Given the description of an element on the screen output the (x, y) to click on. 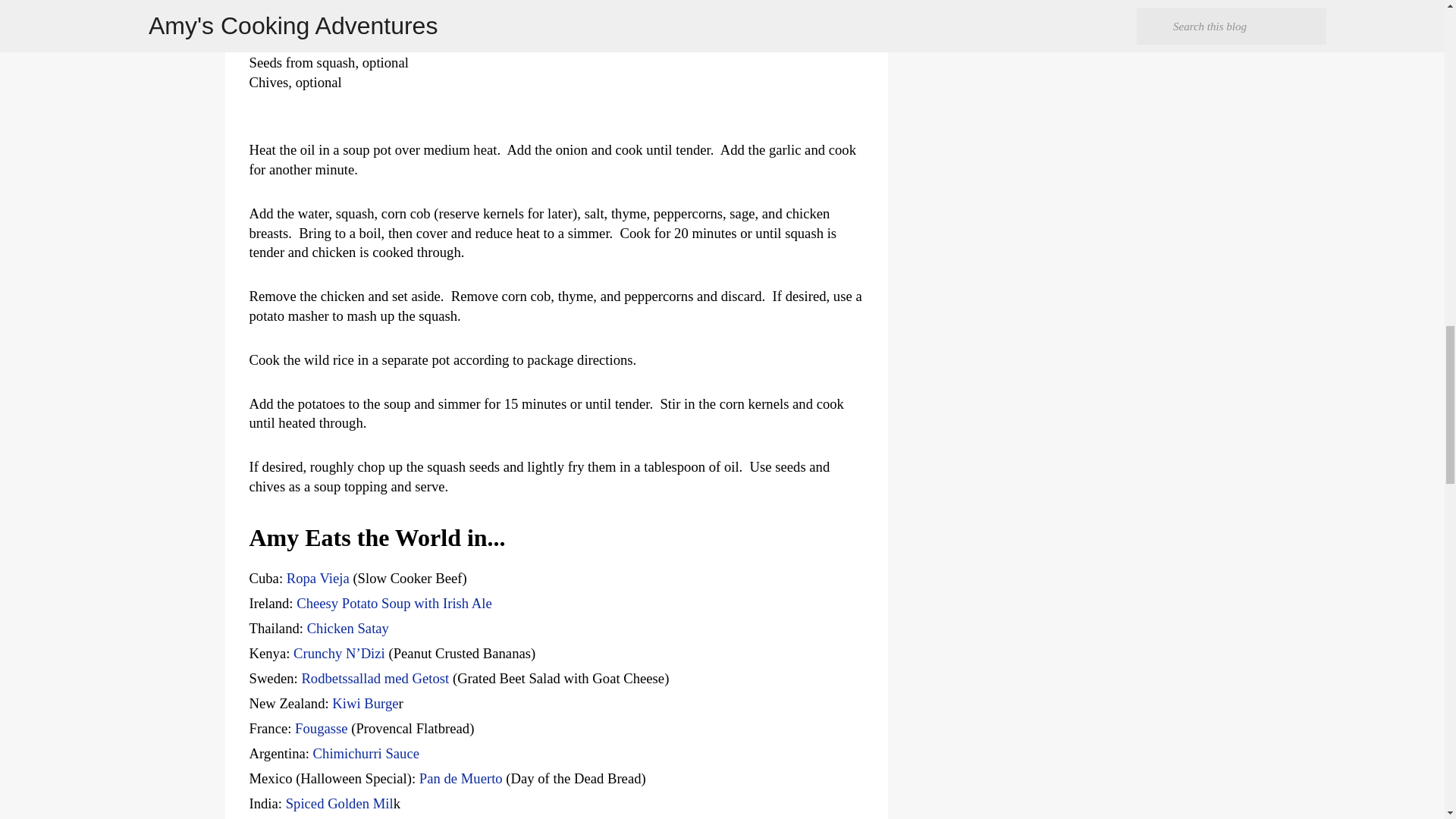
Spiced Golden Mil (339, 803)
Rodbetssallad med Getost (374, 678)
Kiwi Burge (364, 703)
Ropa Vieja (317, 578)
Cheesy Potato Soup with Irish Ale (394, 602)
Pan de Muerto (460, 778)
Fougasse (321, 728)
Chicken Satay (347, 627)
Chimichurri Sauce (366, 753)
